Given the description of an element on the screen output the (x, y) to click on. 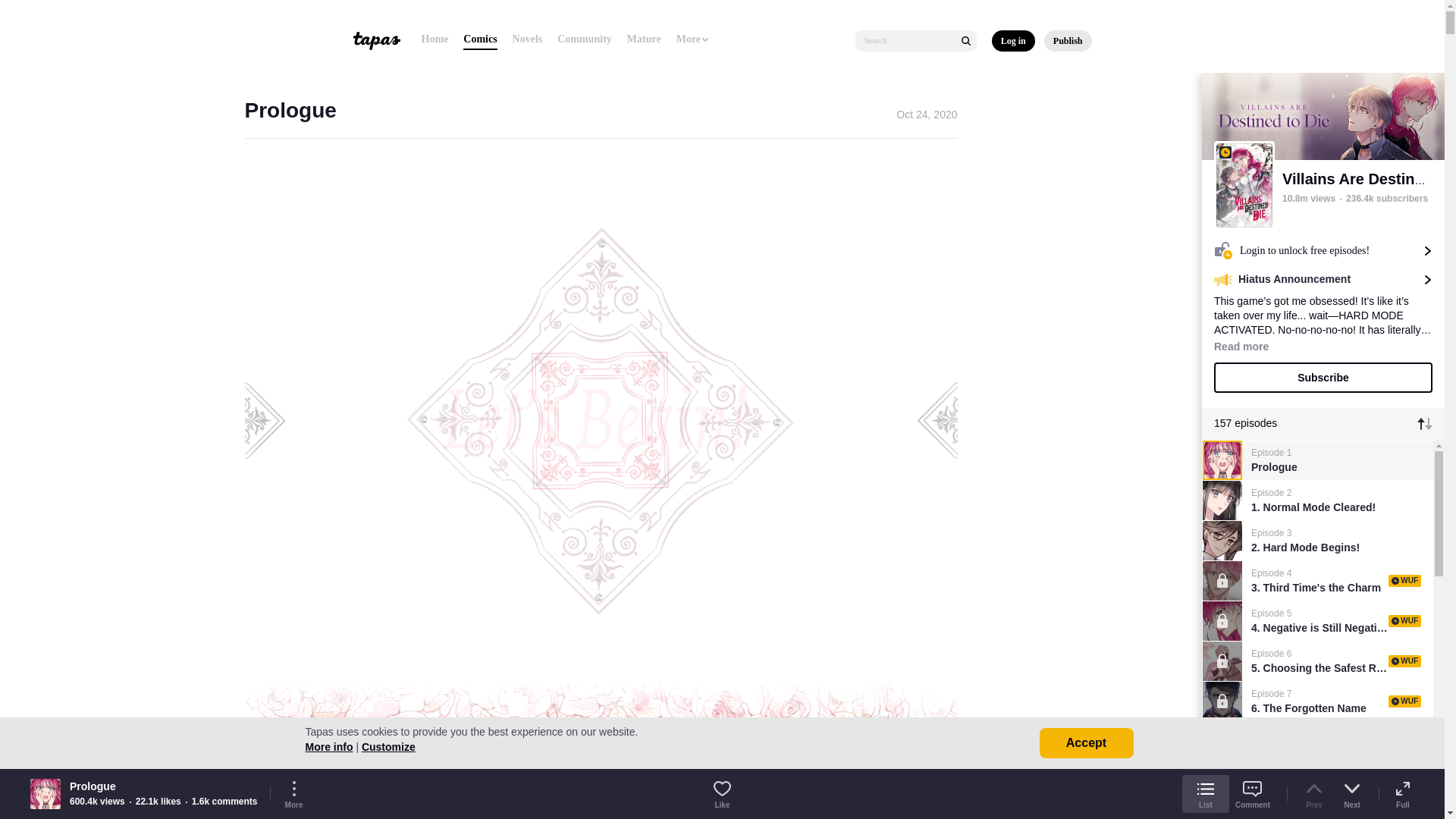
Mature (644, 38)
Log in (1013, 40)
Novels (527, 38)
Publish (1067, 40)
Home (435, 38)
Comics (479, 38)
Community (584, 38)
More (693, 38)
